Given the description of an element on the screen output the (x, y) to click on. 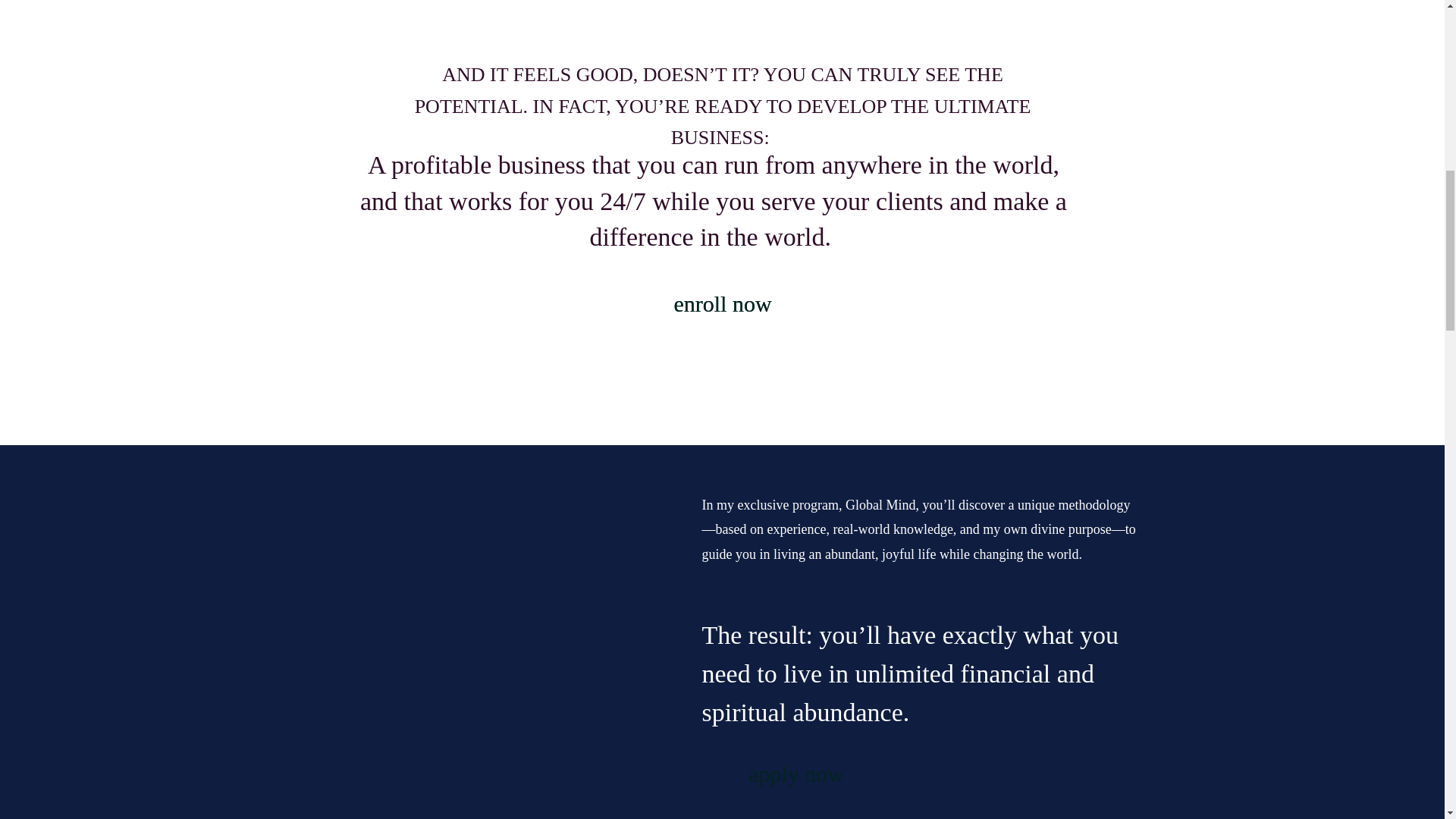
enroll now (722, 306)
apply now (796, 776)
